Given the description of an element on the screen output the (x, y) to click on. 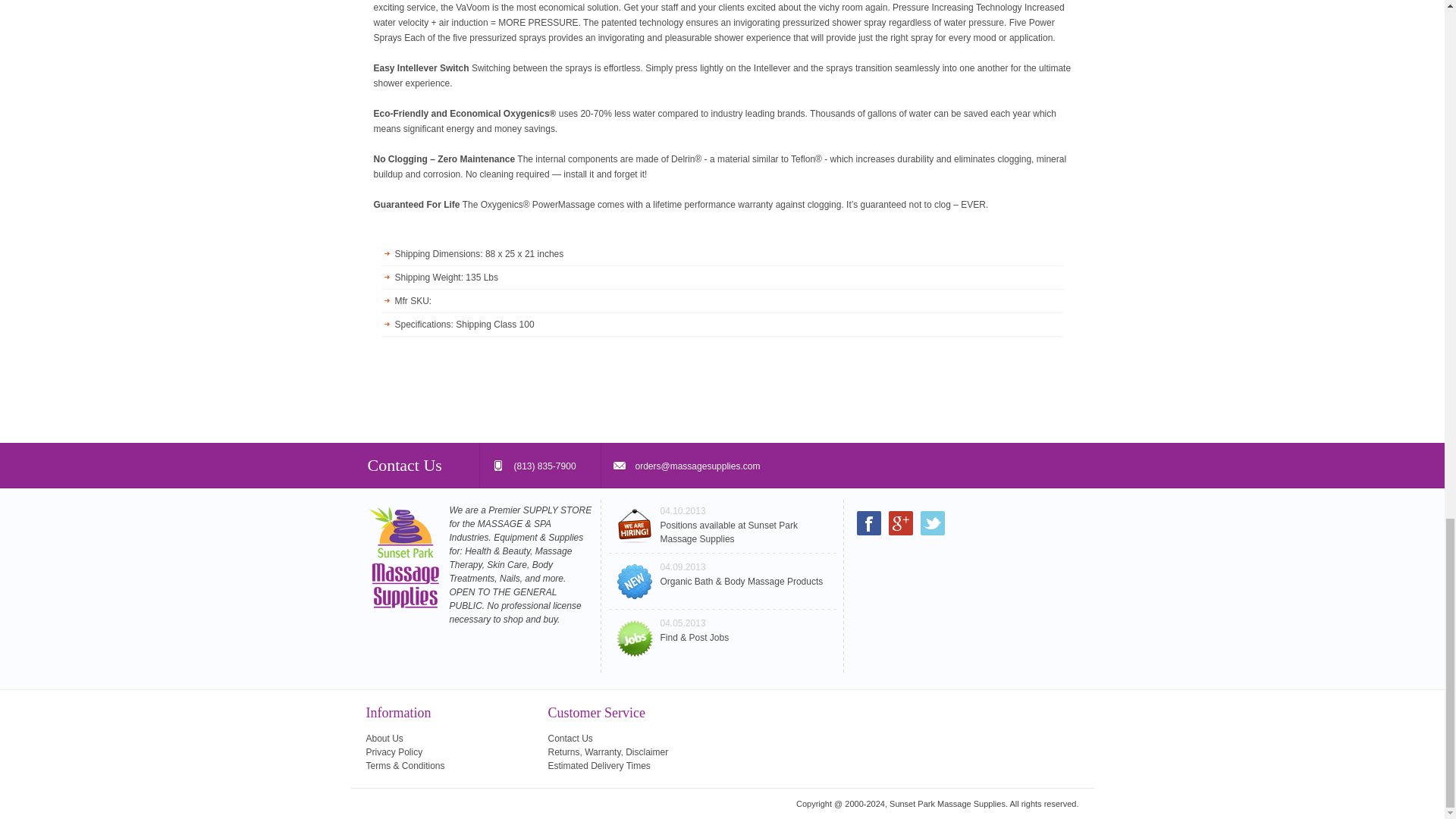
Twitter (932, 523)
Facebook (868, 523)
Phone Number (539, 465)
E-Mail (685, 465)
